Given the description of an element on the screen output the (x, y) to click on. 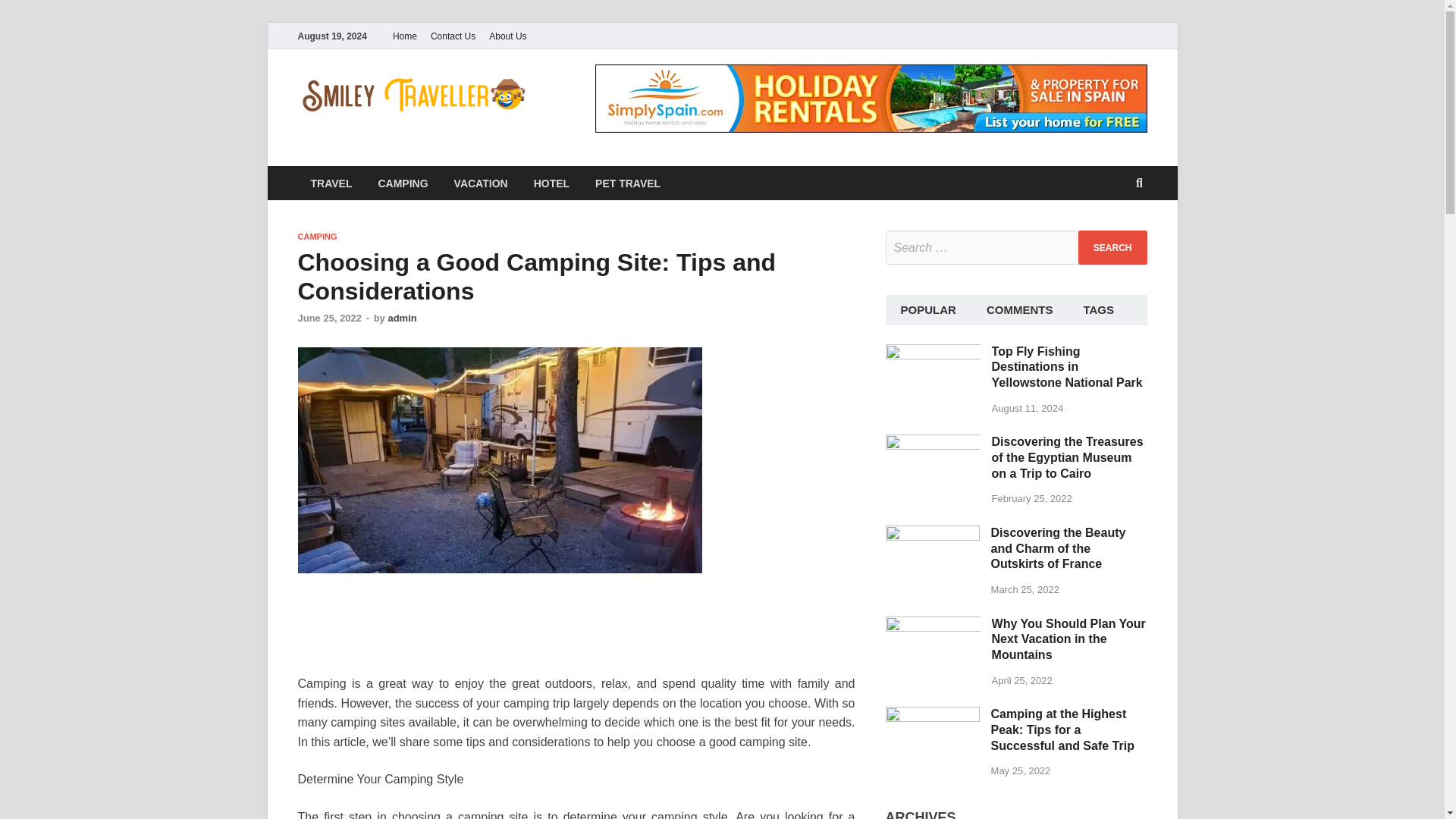
Contact Us (452, 35)
VACATION (481, 182)
About Us (506, 35)
CAMPING (403, 182)
Top Fly Fishing Destinations in Yellowstone National Park (1066, 366)
COMMENTS (1019, 309)
Top Fly Fishing Destinations in Yellowstone National Park (932, 351)
admin (401, 317)
